Given the description of an element on the screen output the (x, y) to click on. 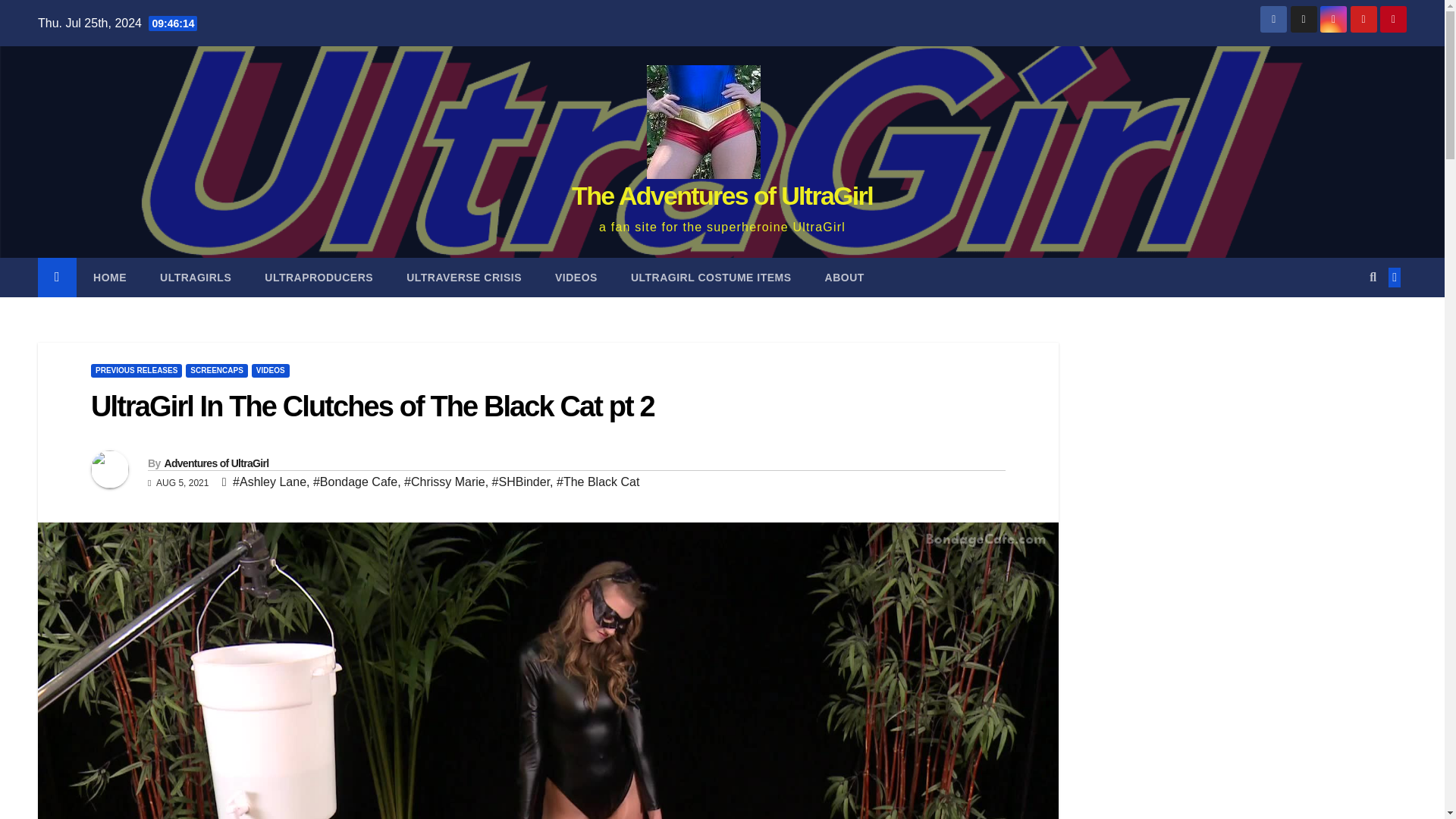
ULTRAGIRL COSTUME ITEMS (711, 277)
ULTRAVERSE CRISIS (464, 277)
Videos (576, 277)
Adventures of UltraGirl (215, 463)
About (844, 277)
ULTRAPRODUCERS (318, 277)
HOME (109, 277)
Home (109, 277)
Ultraverse Crisis (464, 277)
UltraProducers (318, 277)
ULTRAGIRLS (194, 277)
VIDEOS (270, 370)
UltraGirl In The Clutches of The Black Cat pt 2 (371, 406)
ABOUT (844, 277)
